Given the description of an element on the screen output the (x, y) to click on. 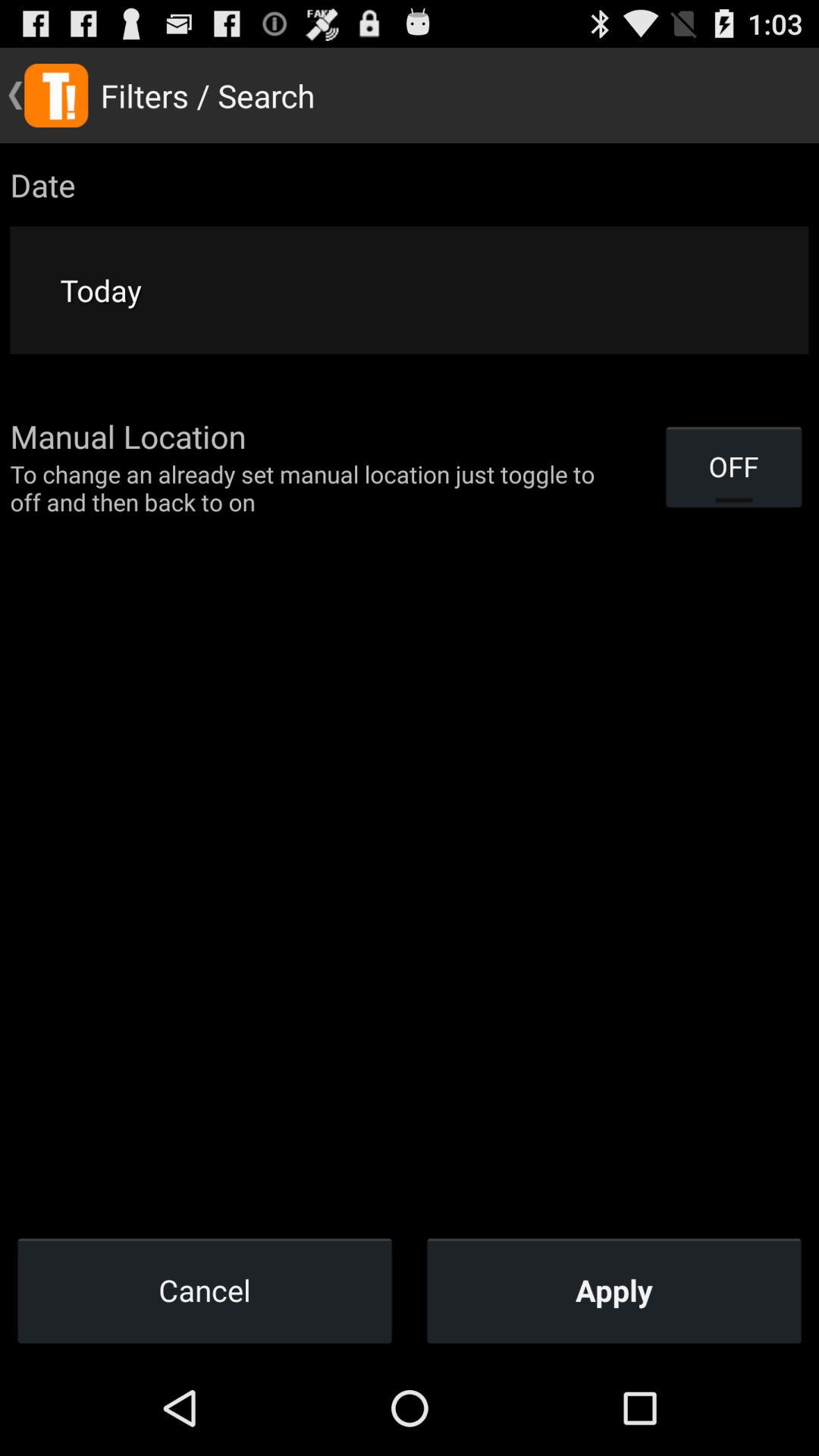
open item next to the cancel item (613, 1290)
